Given the description of an element on the screen output the (x, y) to click on. 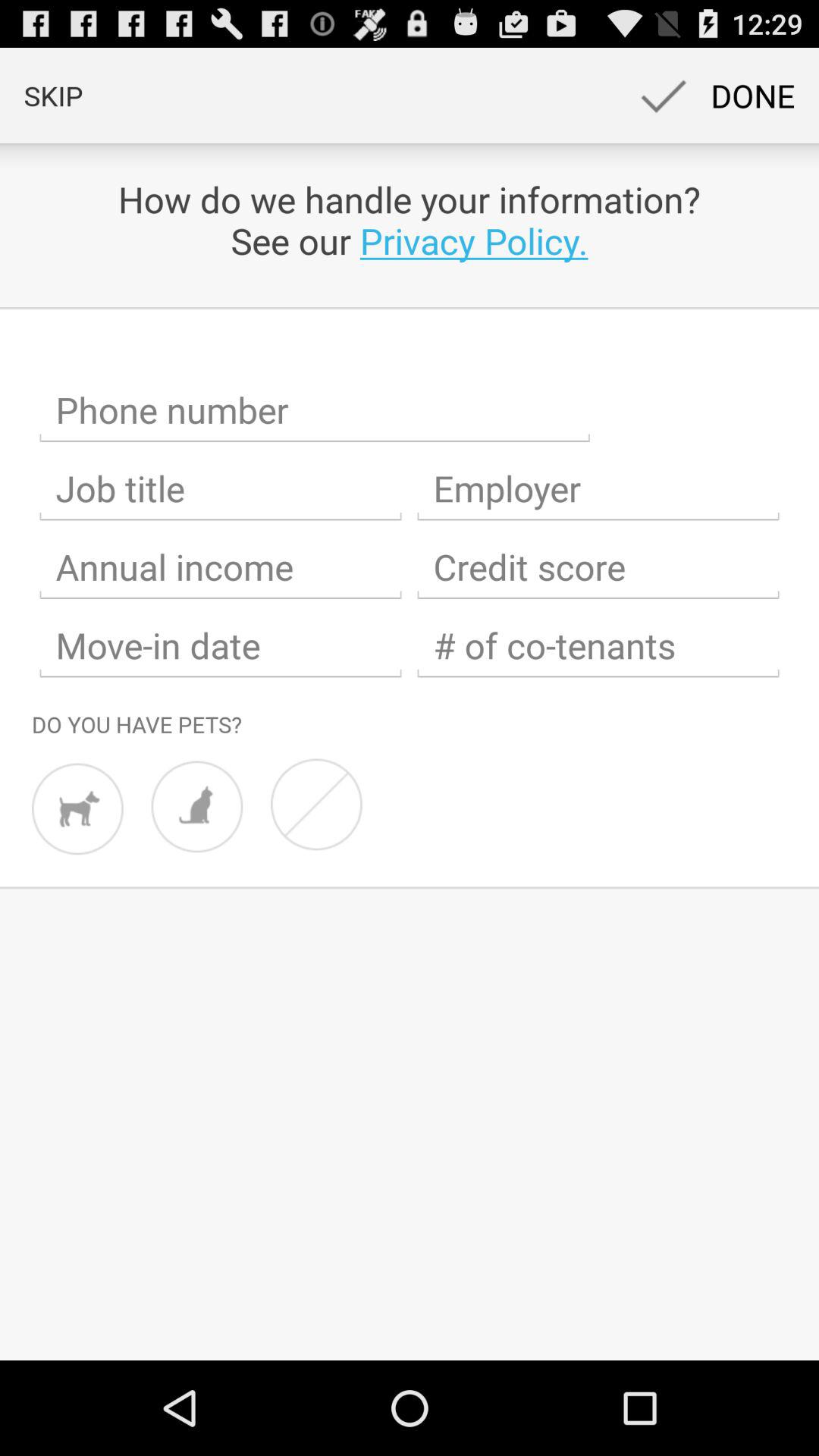
toggle cat option (196, 806)
